Given the description of an element on the screen output the (x, y) to click on. 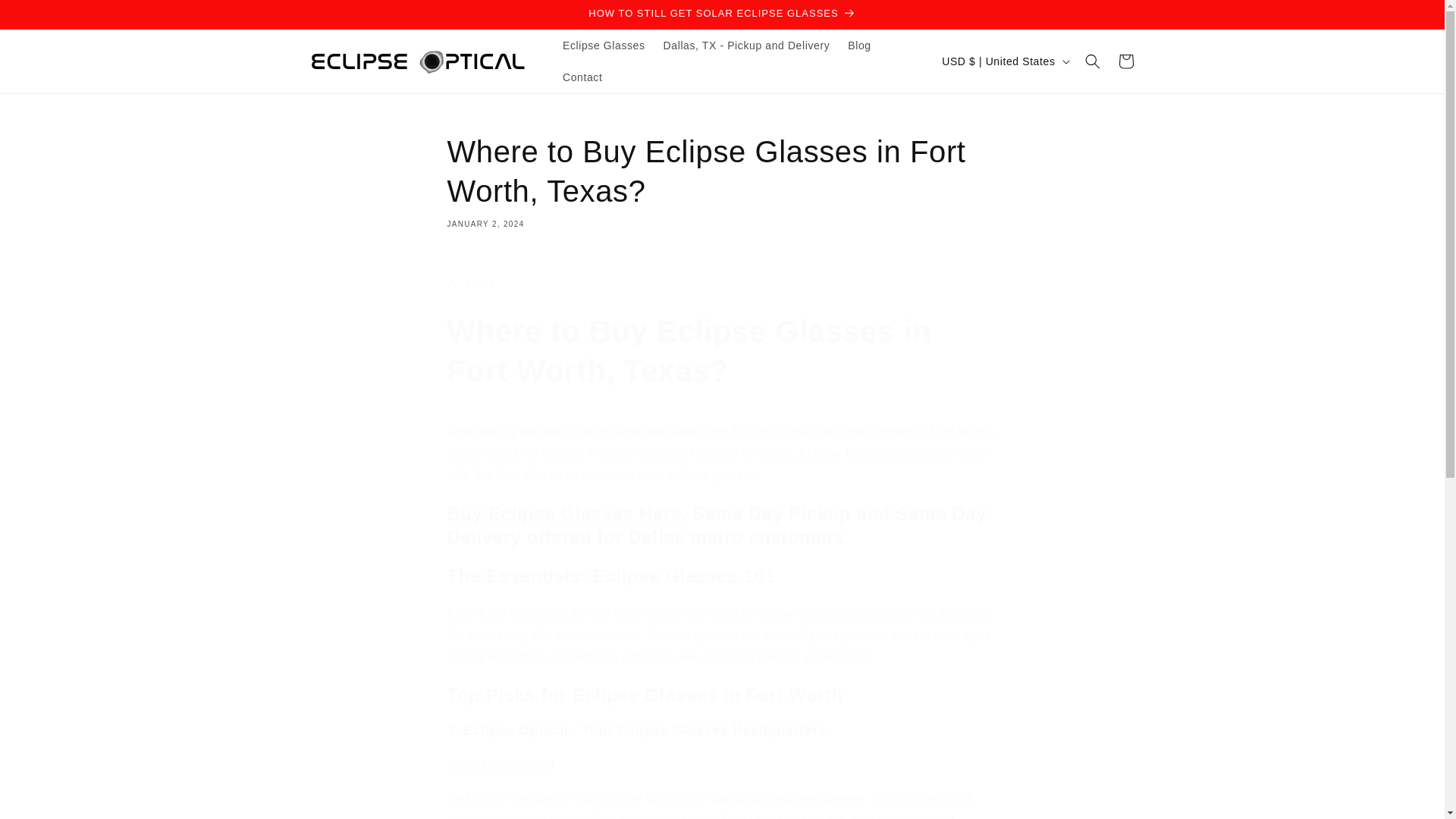
Dallas, TX - Pickup and Delivery (746, 45)
Contact (582, 77)
Share (721, 283)
Cart (1124, 61)
Blog (858, 45)
Skip to content (45, 17)
Solar Eclipse Glasses Garland Texas (500, 763)
Eclipse Glasses (603, 45)
eclipseoptical.com (500, 763)
HOW TO STILL GET SOLAR ECLIPSE GLASSES (721, 14)
buy legit solar eclipse glasses fort worth (566, 513)
Buy Eclipse Glasses Here. (566, 513)
